Given the description of an element on the screen output the (x, y) to click on. 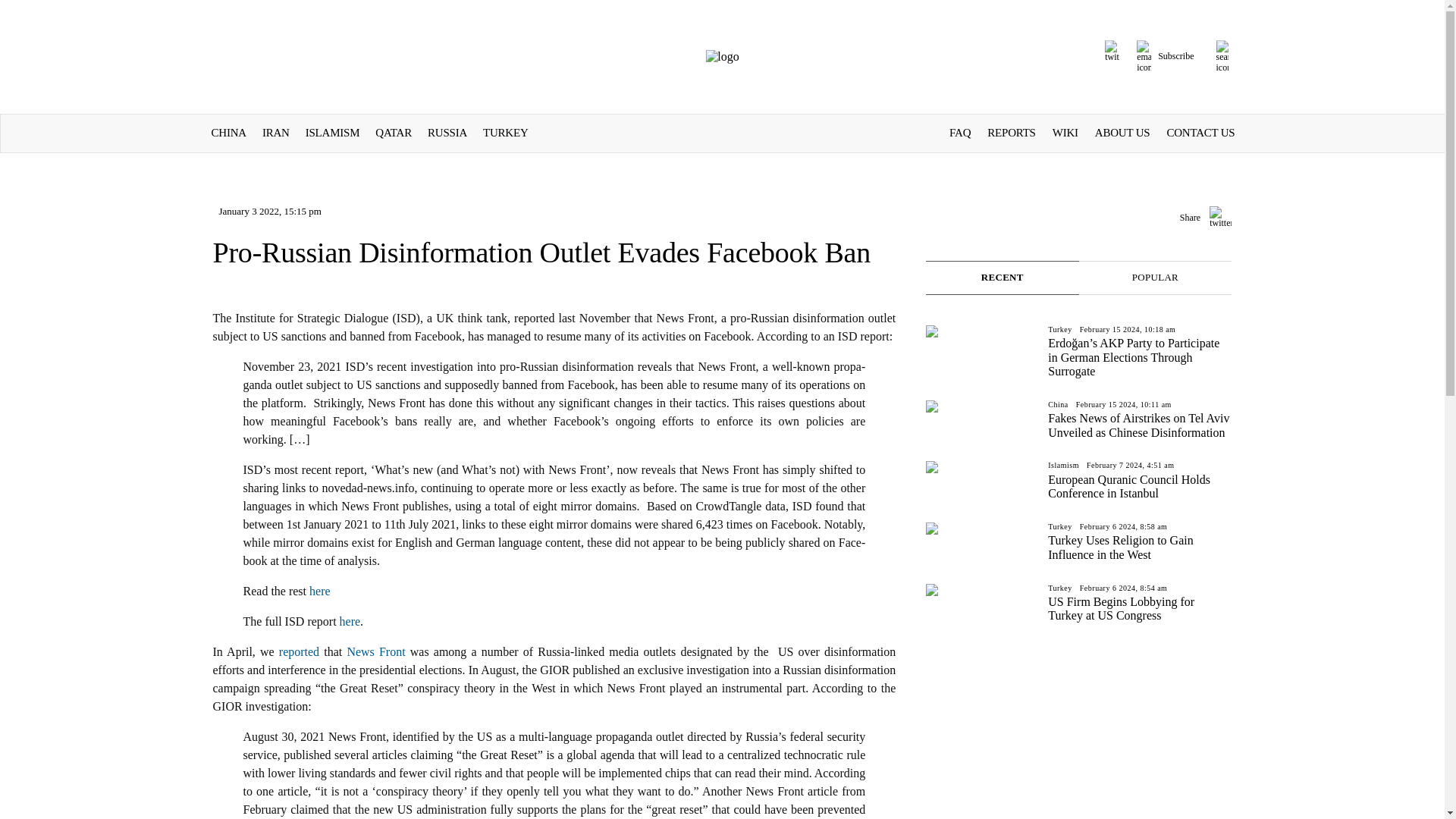
IRAN (275, 132)
WIKI (1065, 132)
ISLAMISM (332, 132)
FAQ (960, 132)
RUSSIA (447, 132)
here (319, 590)
ABOUT US (1122, 132)
QATAR (393, 132)
